Given the description of an element on the screen output the (x, y) to click on. 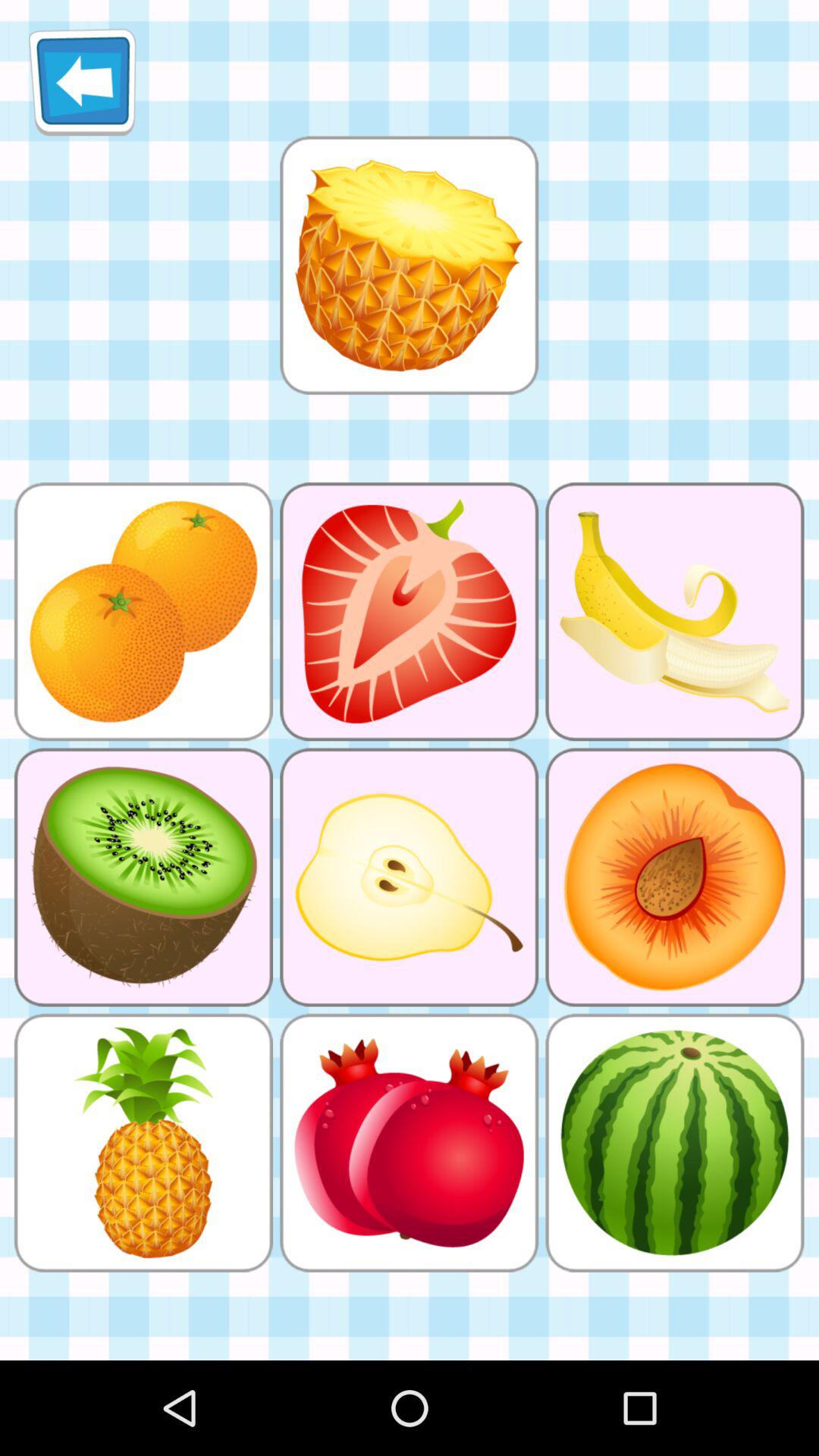
fruit pineapple (409, 265)
